Given the description of an element on the screen output the (x, y) to click on. 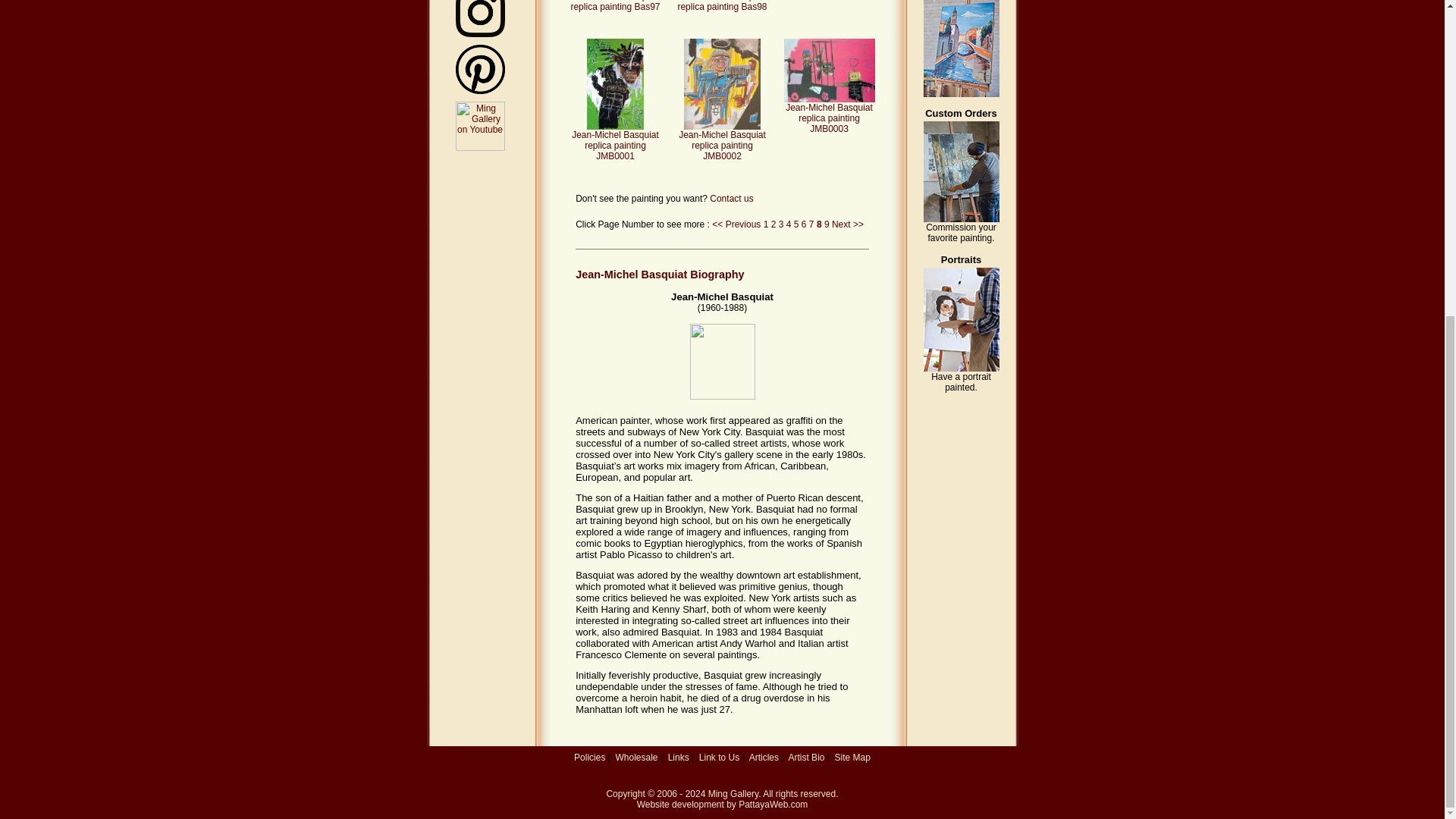
Ming Gallery on Pinterest (478, 69)
Ming Gallery on Pinterest (478, 90)
Ming Gallery on Instagram (478, 18)
Jean-Michel Basquiat replica painting JMB0002 (721, 141)
Ming Gallery on Instagram (478, 33)
Jean-Michel Basquiat replica painting JMB0003 (829, 114)
Contact us (731, 198)
Jean-Michel Basquiat replica painting Bas97 (614, 6)
Jean-Michel Basquiat replica painting JMB0001 (615, 141)
Jean-Michel Basquiat replica painting Bas98 (722, 6)
